Given the description of an element on the screen output the (x, y) to click on. 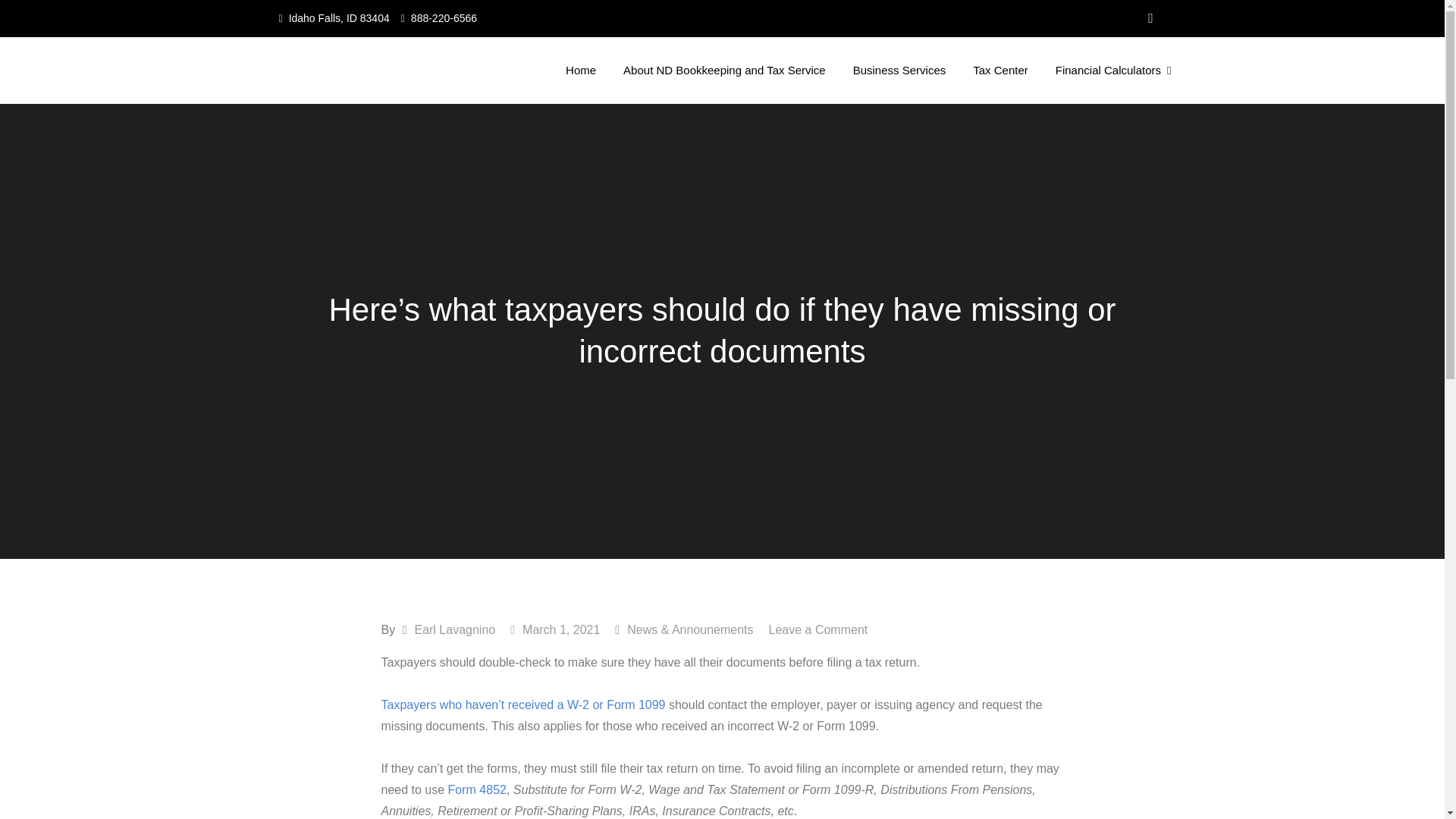
ND Bookkeeping and Tax Service (480, 85)
Earl Lavagnino (454, 629)
Tax Center (1000, 70)
About ND Bookkeeping and Tax Service (725, 70)
888-220-6566 (443, 18)
Financial Calculators (1113, 70)
March 1, 2021 (555, 629)
Home (580, 70)
Form 4852 (477, 789)
Business Services (899, 70)
